Given the description of an element on the screen output the (x, y) to click on. 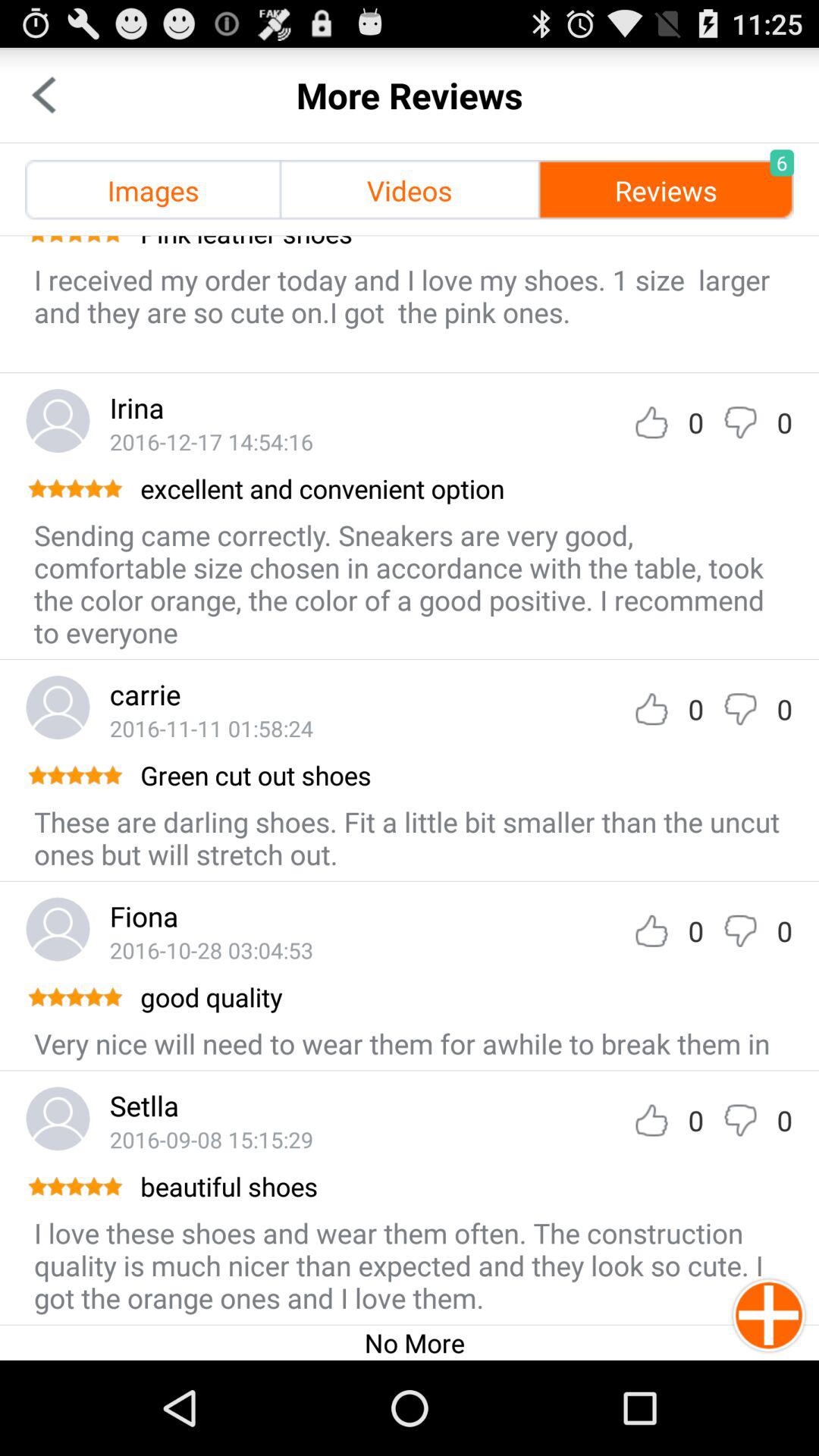
like the review (651, 709)
